Given the description of an element on the screen output the (x, y) to click on. 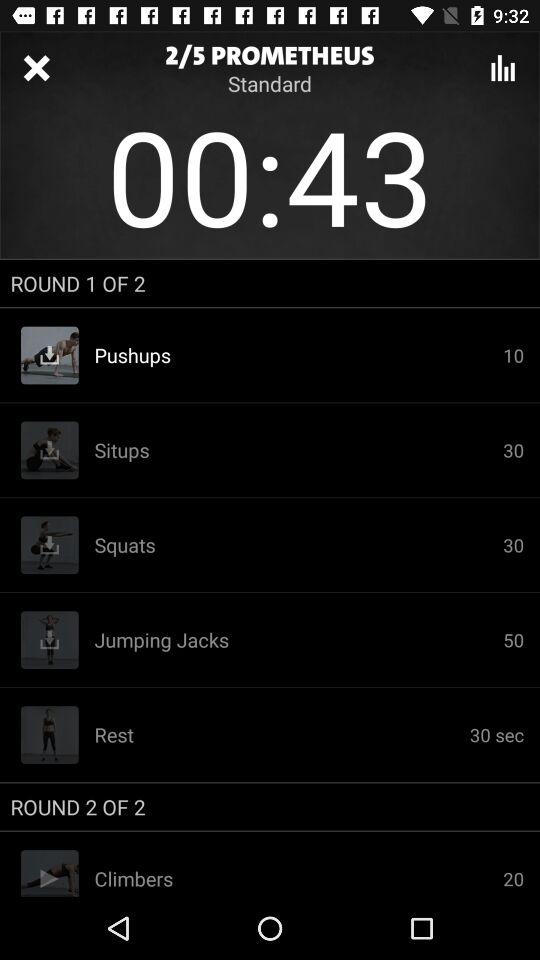
open icon to the left of 30 icon (298, 545)
